Given the description of an element on the screen output the (x, y) to click on. 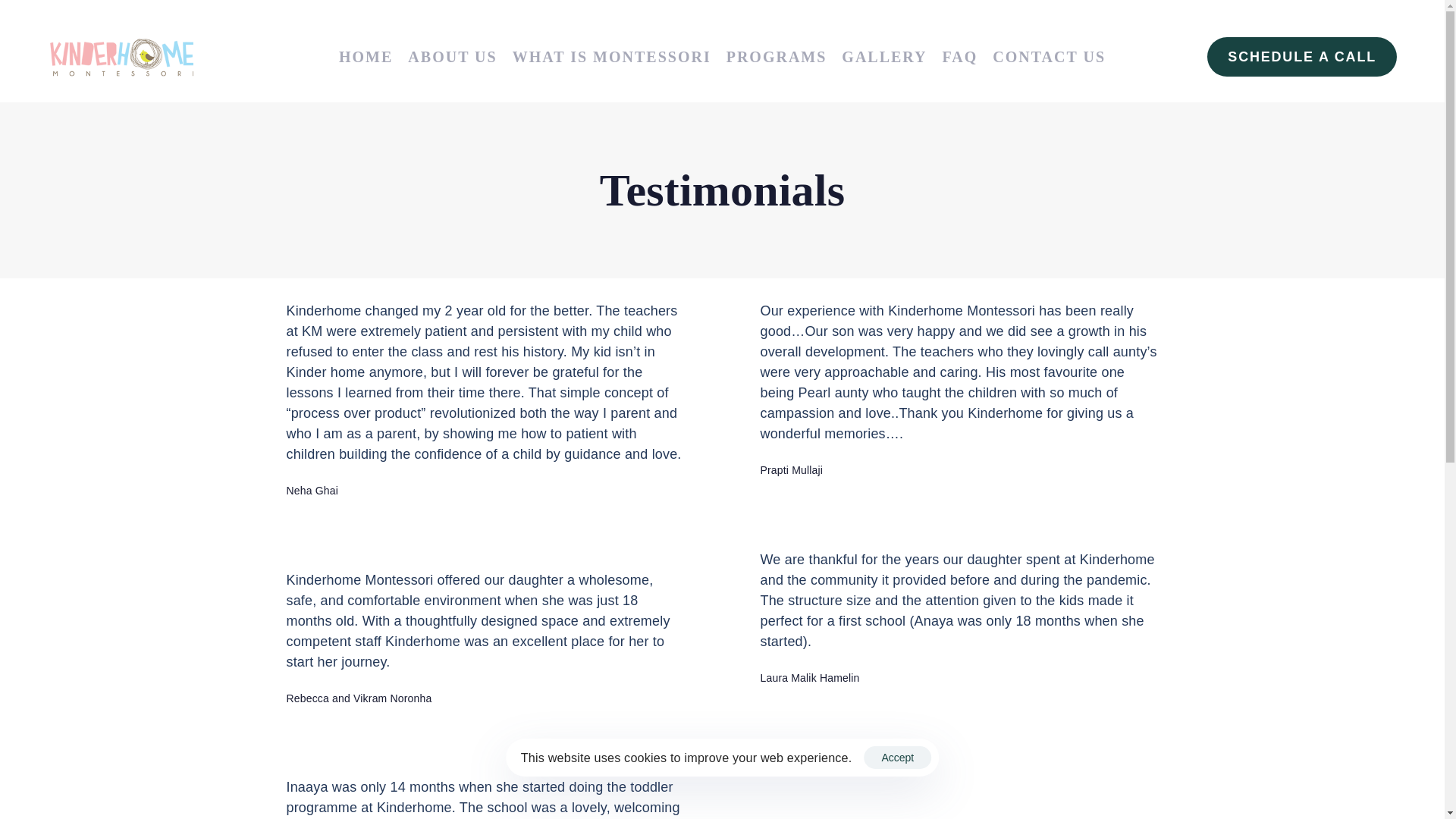
Accept (897, 757)
ABOUT US (451, 56)
CONTACT US (1049, 56)
WHAT IS MONTESSORI (612, 56)
GALLERY (884, 56)
HOME (365, 56)
PROGRAMS (776, 56)
FAQ (959, 56)
SCHEDULE A CALL (1301, 56)
